Given the description of an element on the screen output the (x, y) to click on. 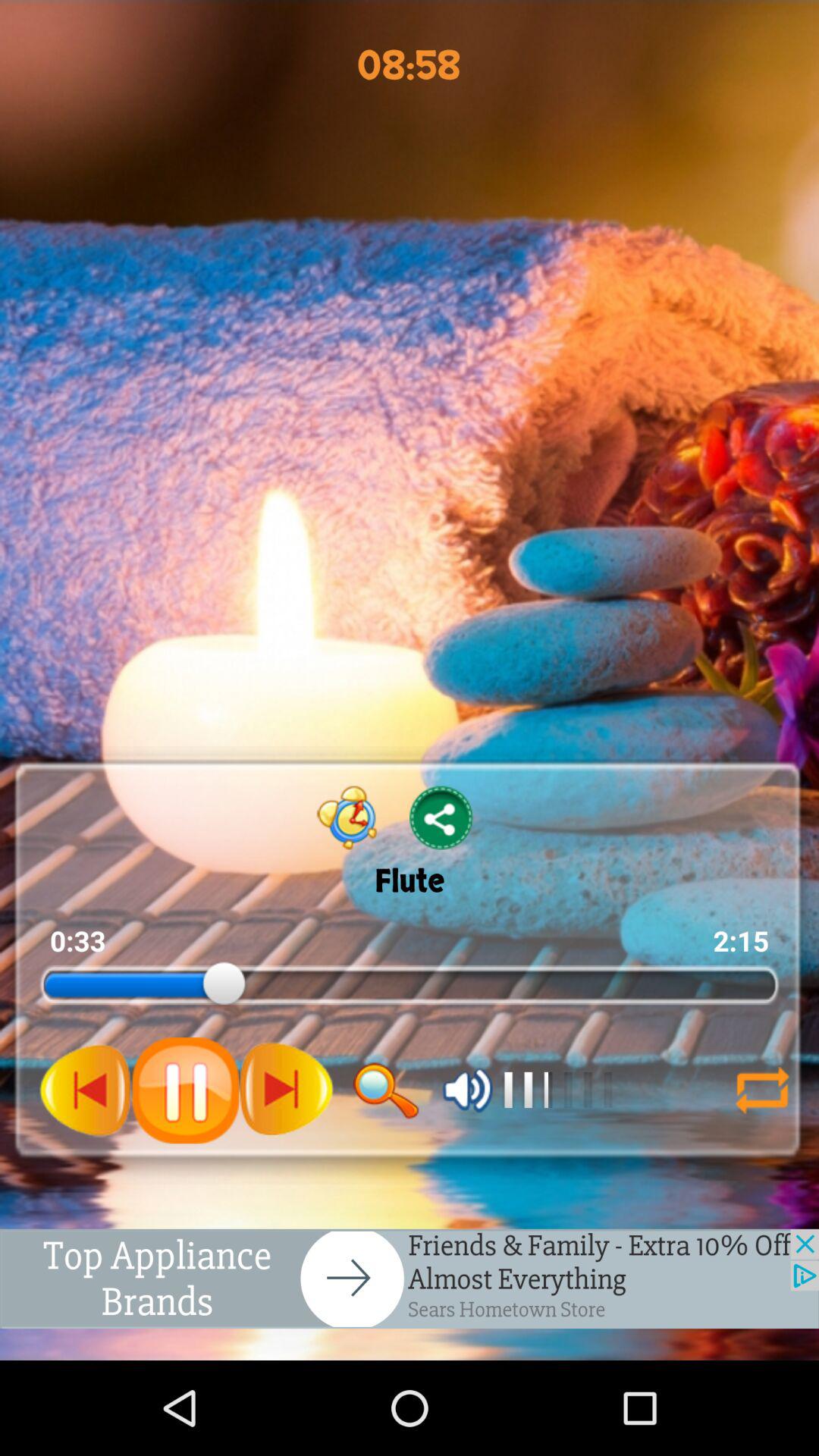
skip song (285, 1090)
